Given the description of an element on the screen output the (x, y) to click on. 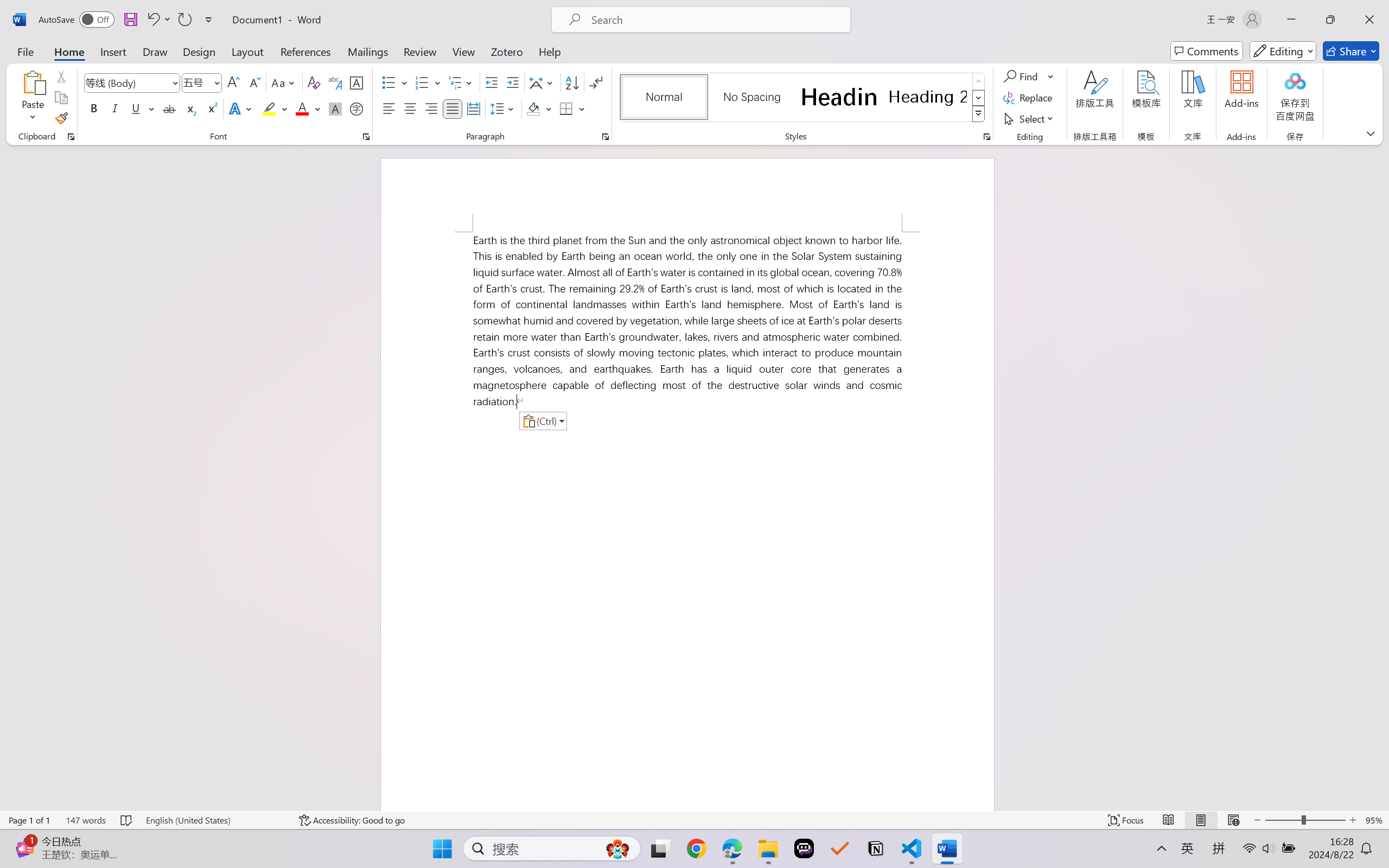
Increase Indent (512, 82)
Align Right (431, 108)
Show/Hide Editing Marks (595, 82)
Subscript (190, 108)
Class: NetUIScrollBar (1382, 477)
Text Effects and Typography (241, 108)
Align Left (388, 108)
Styles... (986, 136)
